Given the description of an element on the screen output the (x, y) to click on. 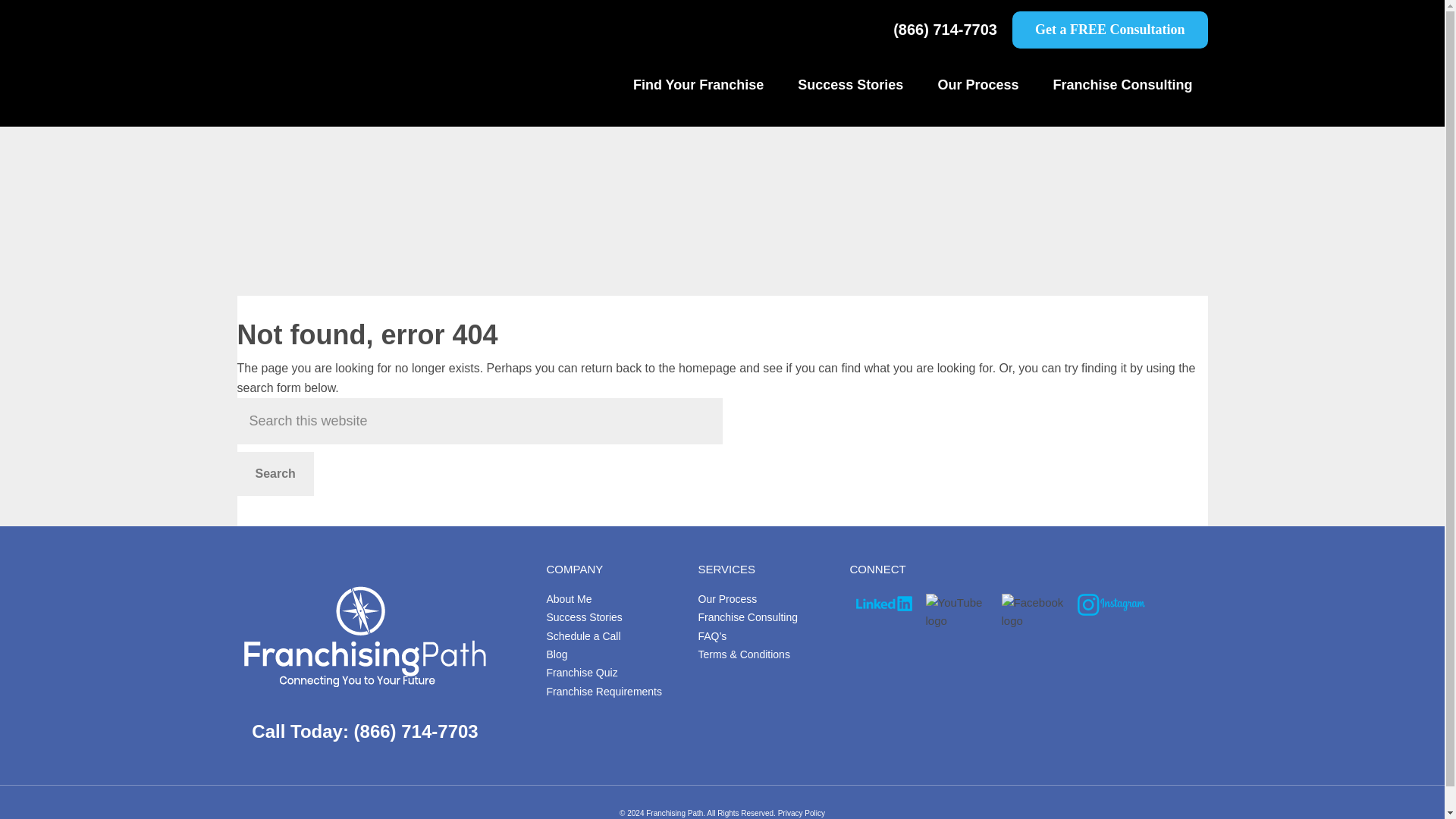
Franchise Consulting (1121, 84)
Franchise Consulting (747, 616)
Find Your Franchise (697, 84)
Blog (556, 654)
Our Process (977, 84)
Franchising Path (349, 85)
About Me (568, 598)
Franchise Quiz (581, 672)
Franchise Requirements (604, 691)
Success Stories (583, 616)
